Given the description of an element on the screen output the (x, y) to click on. 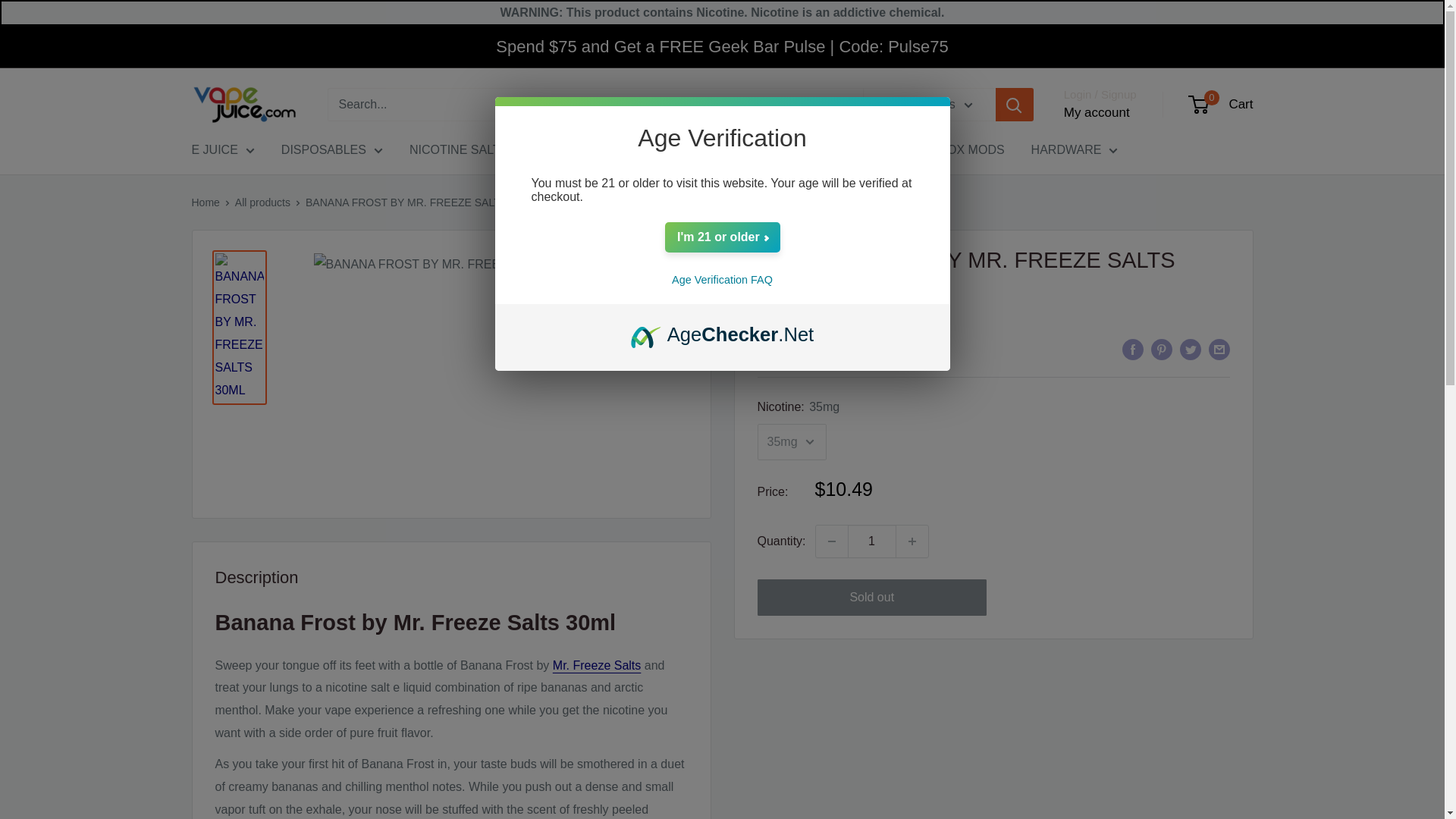
1 (871, 541)
Decrease quantity by 1 (831, 541)
Increase quantity by 1 (912, 541)
